Given the description of an element on the screen output the (x, y) to click on. 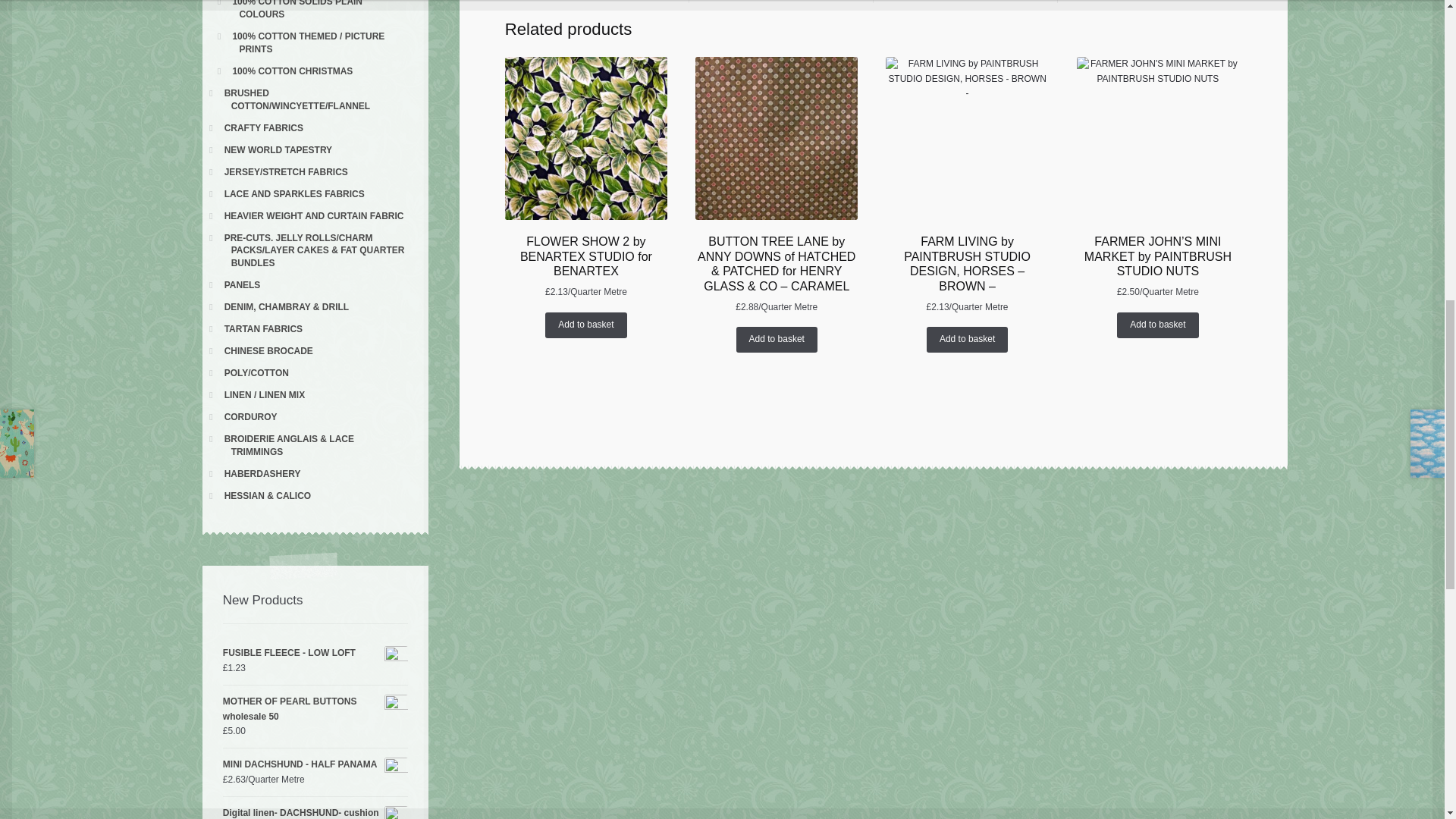
Share on Twitter (596, 2)
Share via Email (1149, 2)
Share on Facebook (780, 2)
Pin this product (965, 2)
Add to basket (585, 325)
Add to basket (776, 339)
